Given the description of an element on the screen output the (x, y) to click on. 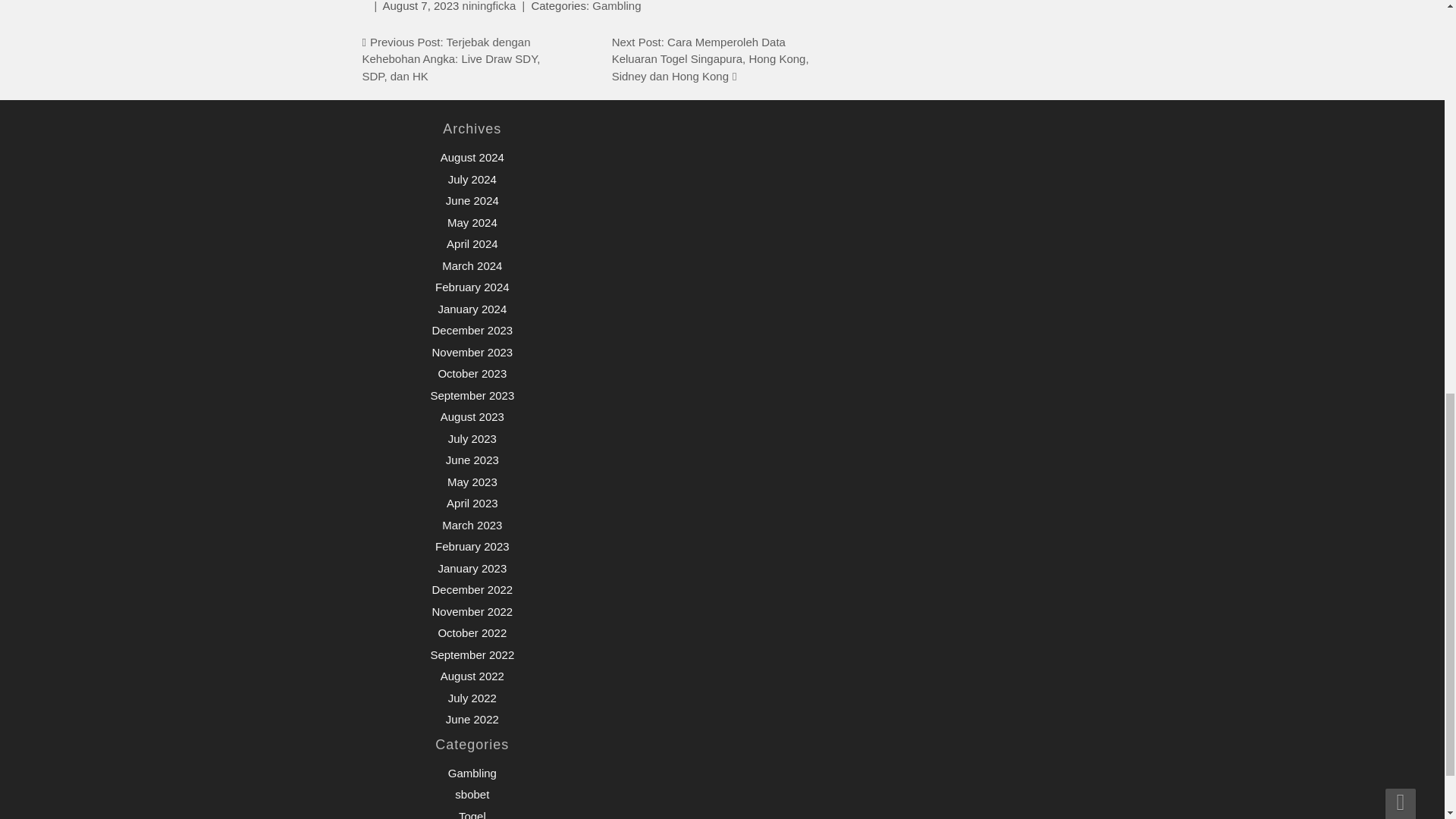
July 2024 (472, 178)
December 2023 (471, 329)
October 2023 (472, 373)
December 2022 (471, 589)
April 2024 (471, 243)
April 2023 (471, 502)
August 2024 (472, 156)
October 2022 (472, 632)
March 2023 (472, 524)
